Given the description of an element on the screen output the (x, y) to click on. 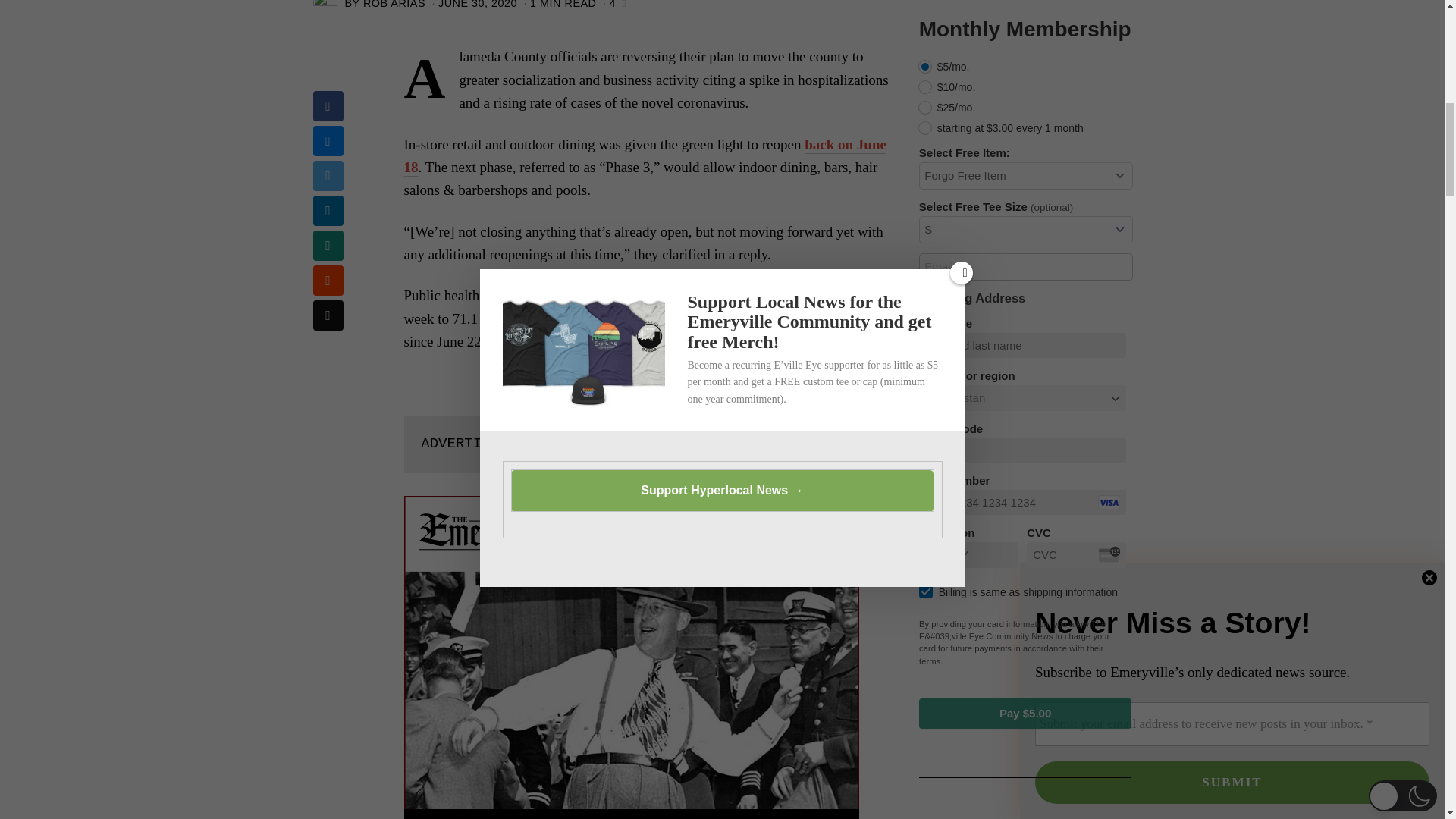
4 (612, 5)
make-a-recurring-monthly-payment-1502228771 (924, 87)
make-a-recurring-monthly-payment-1534632379 (924, 66)
ROB ARIAS (393, 4)
back on June 18 (644, 155)
make-a-recurring-monthly-payment-1515814258 (924, 107)
